Given the description of an element on the screen output the (x, y) to click on. 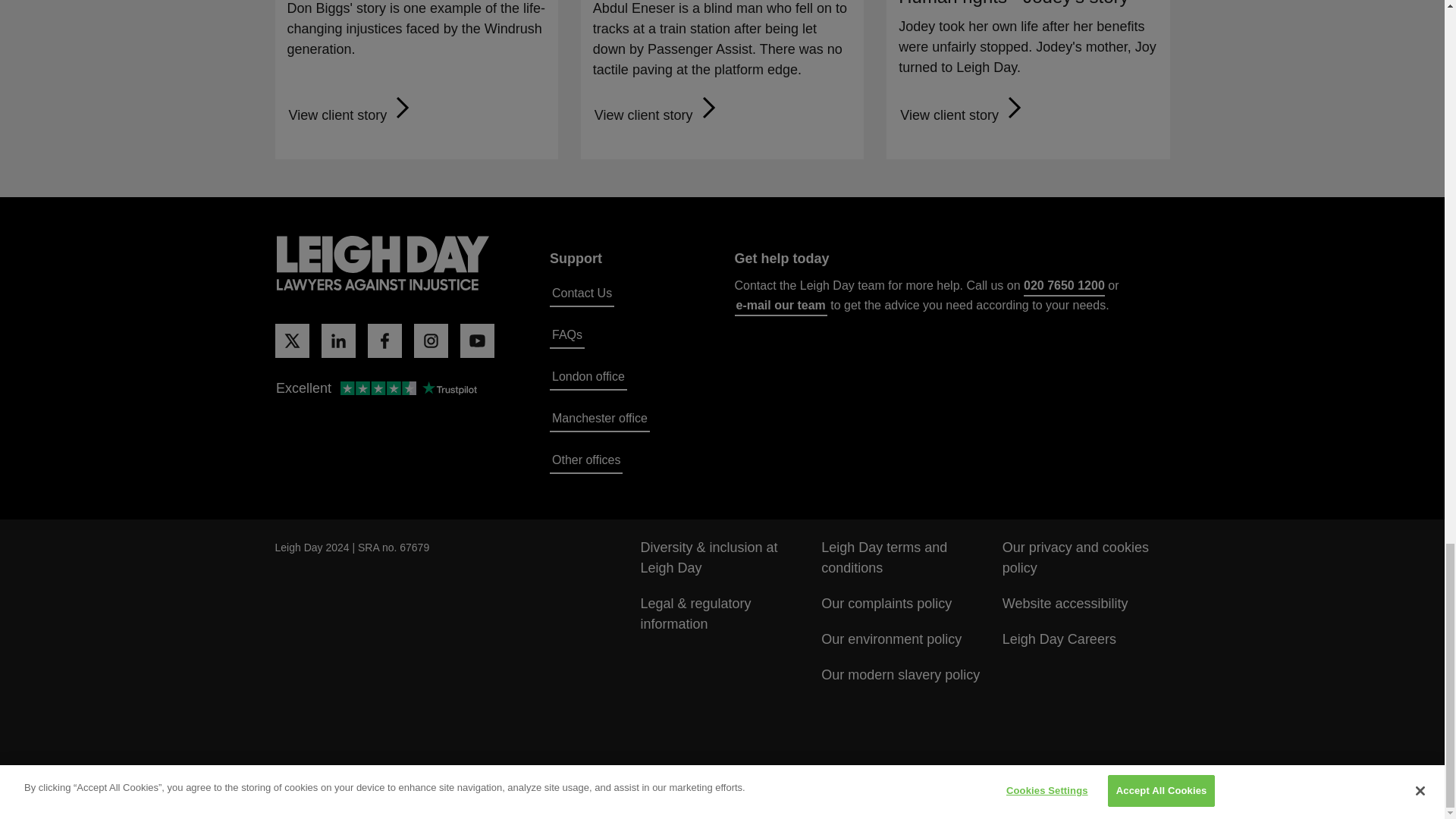
View Human rights - Jodey's story (962, 114)
View Human rights - Don's story (351, 114)
Customer reviews powered by Trustpilot (375, 389)
View Human rights - Abdul's story (657, 114)
